Given the description of an element on the screen output the (x, y) to click on. 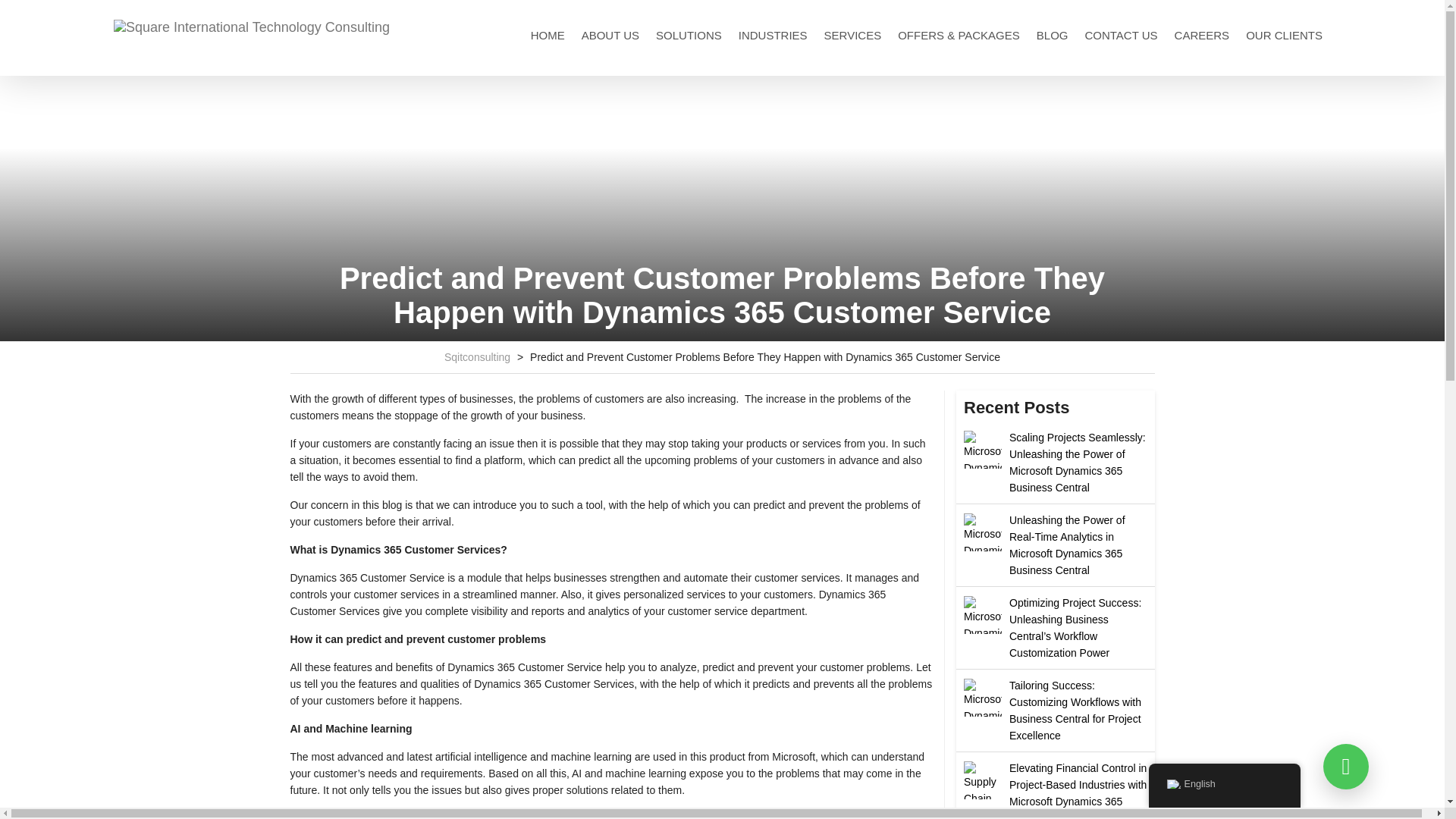
INDUSTRIES (772, 35)
Go to Sqitconsulting. (477, 357)
SERVICES (852, 35)
HOME (547, 35)
ABOUT US (609, 35)
English (1172, 783)
SOLUTIONS (688, 35)
